Given the description of an element on the screen output the (x, y) to click on. 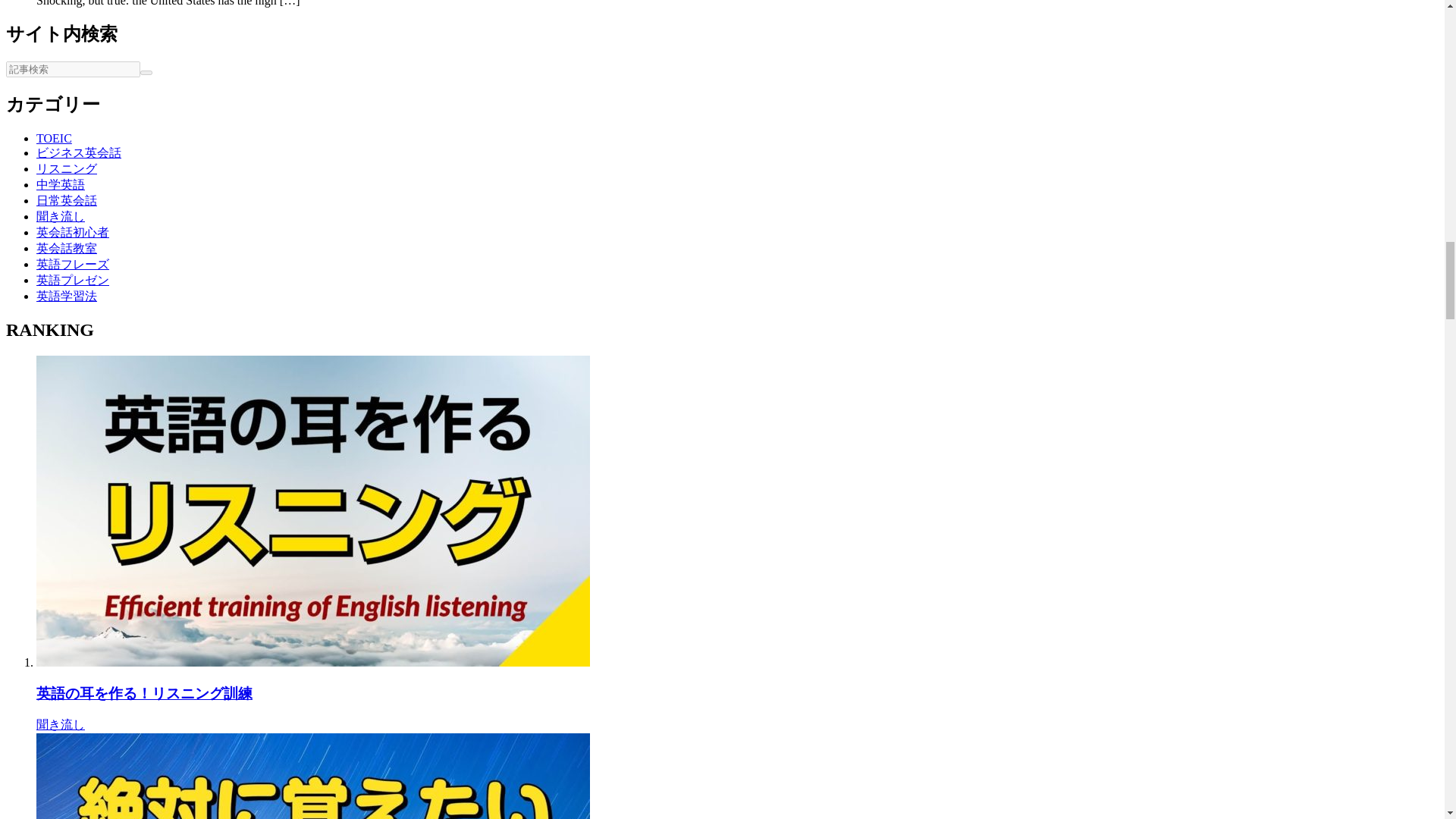
search (145, 72)
TOEIC (53, 137)
